Given the description of an element on the screen output the (x, y) to click on. 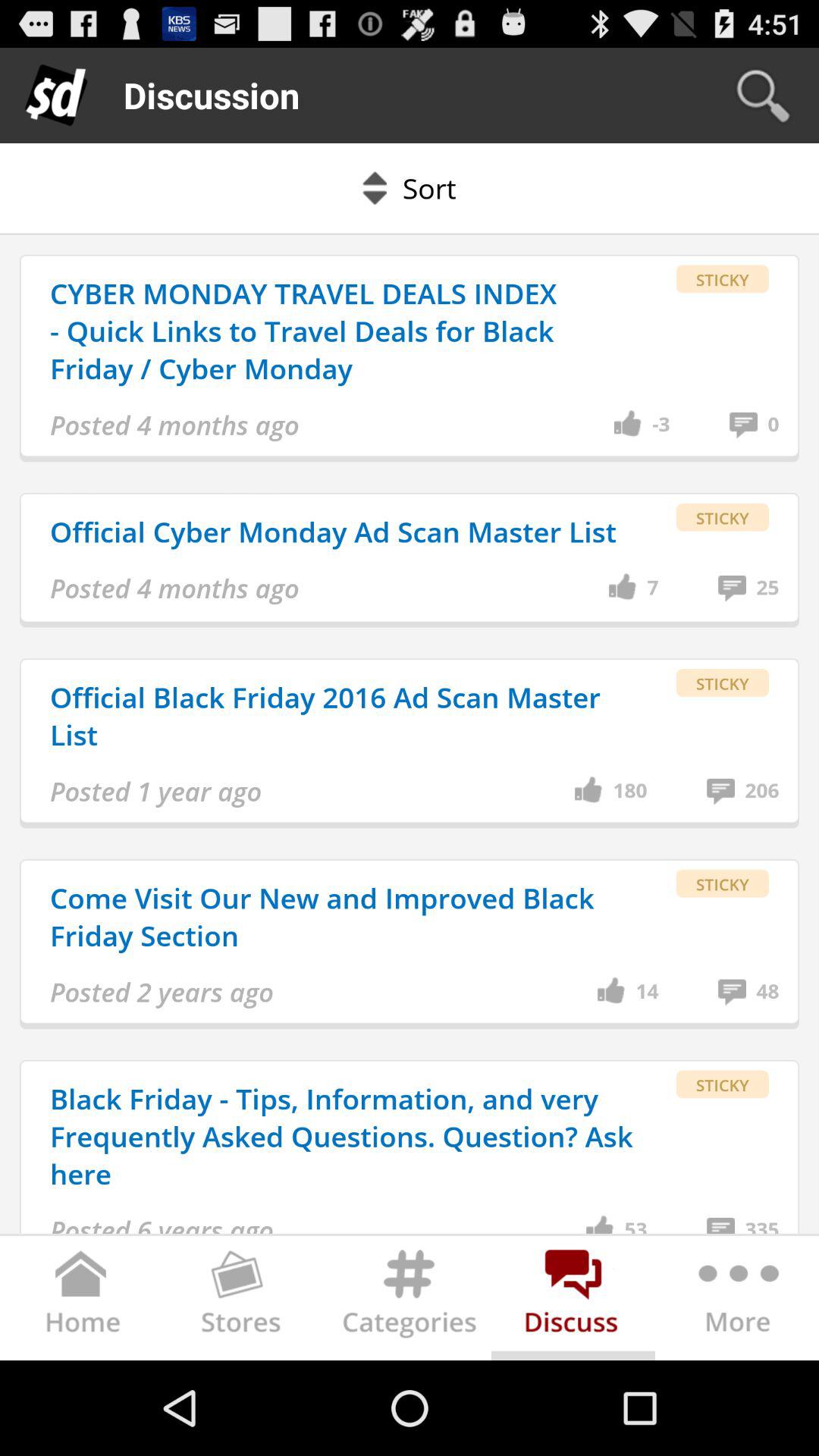
home (81, 1301)
